Given the description of an element on the screen output the (x, y) to click on. 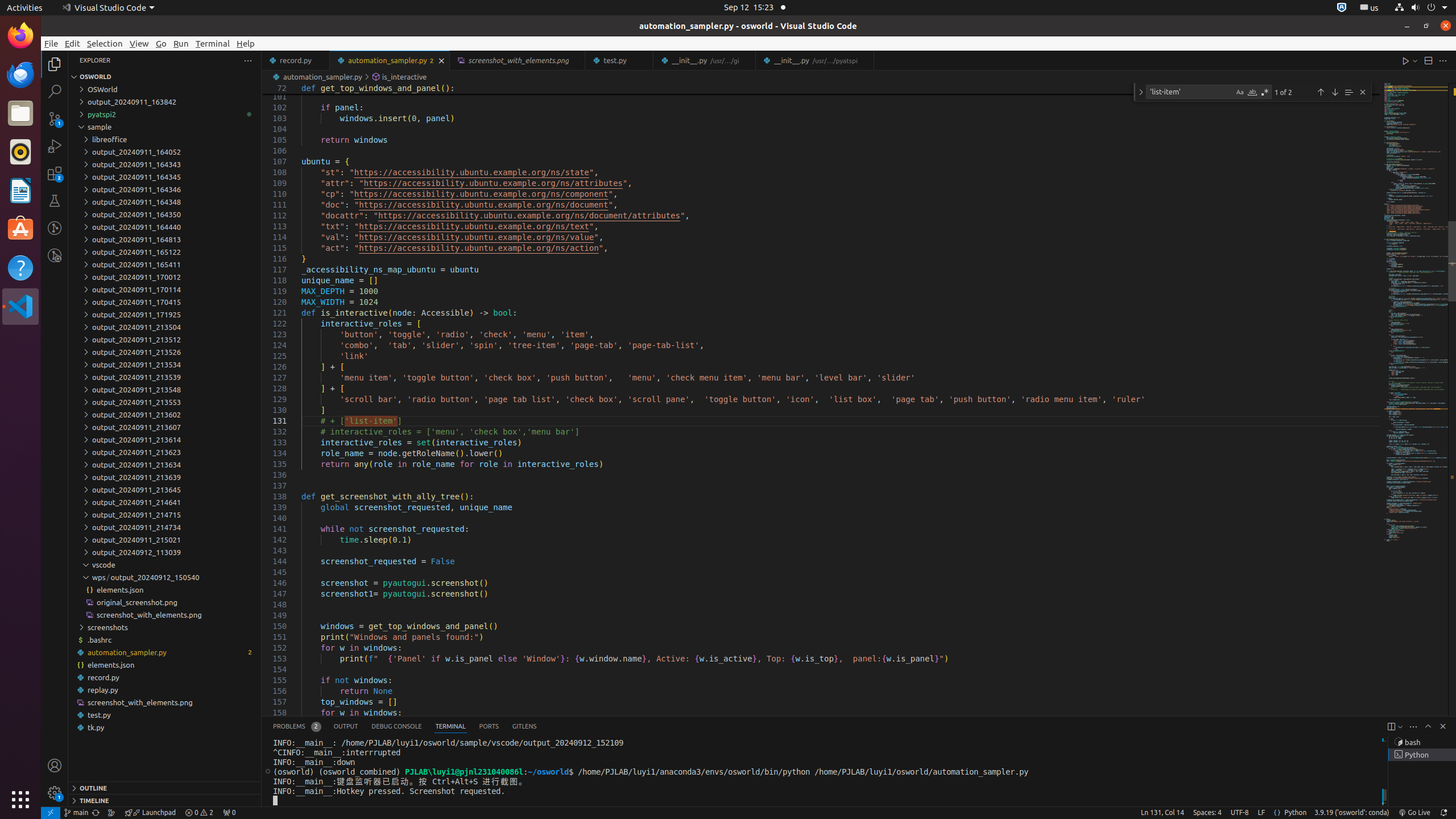
Show the GitLens Commit Graph Element type: push-button (111, 812)
File Element type: push-button (50, 43)
output_20240911_213553 Element type: tree-item (164, 401)
screenshot_with_elements.png Element type: tree-item (164, 702)
Active View Switcher Element type: page-tab-list (404, 726)
